Given the description of an element on the screen output the (x, y) to click on. 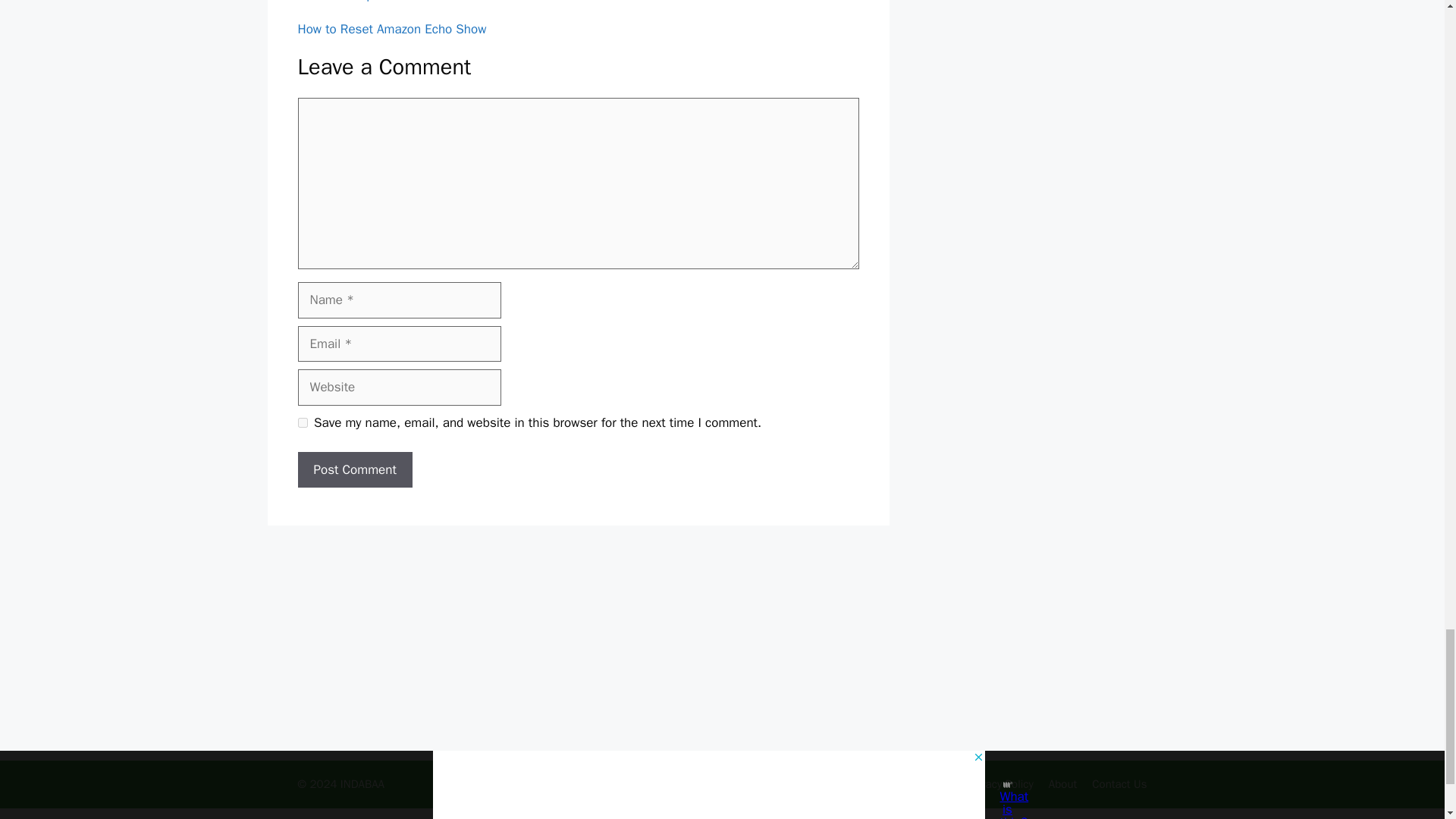
How to Setup Amazon Echo Show (391, 1)
How to Reset Amazon Echo Show (391, 28)
Post Comment (354, 470)
yes (302, 422)
Post Comment (354, 470)
